Given the description of an element on the screen output the (x, y) to click on. 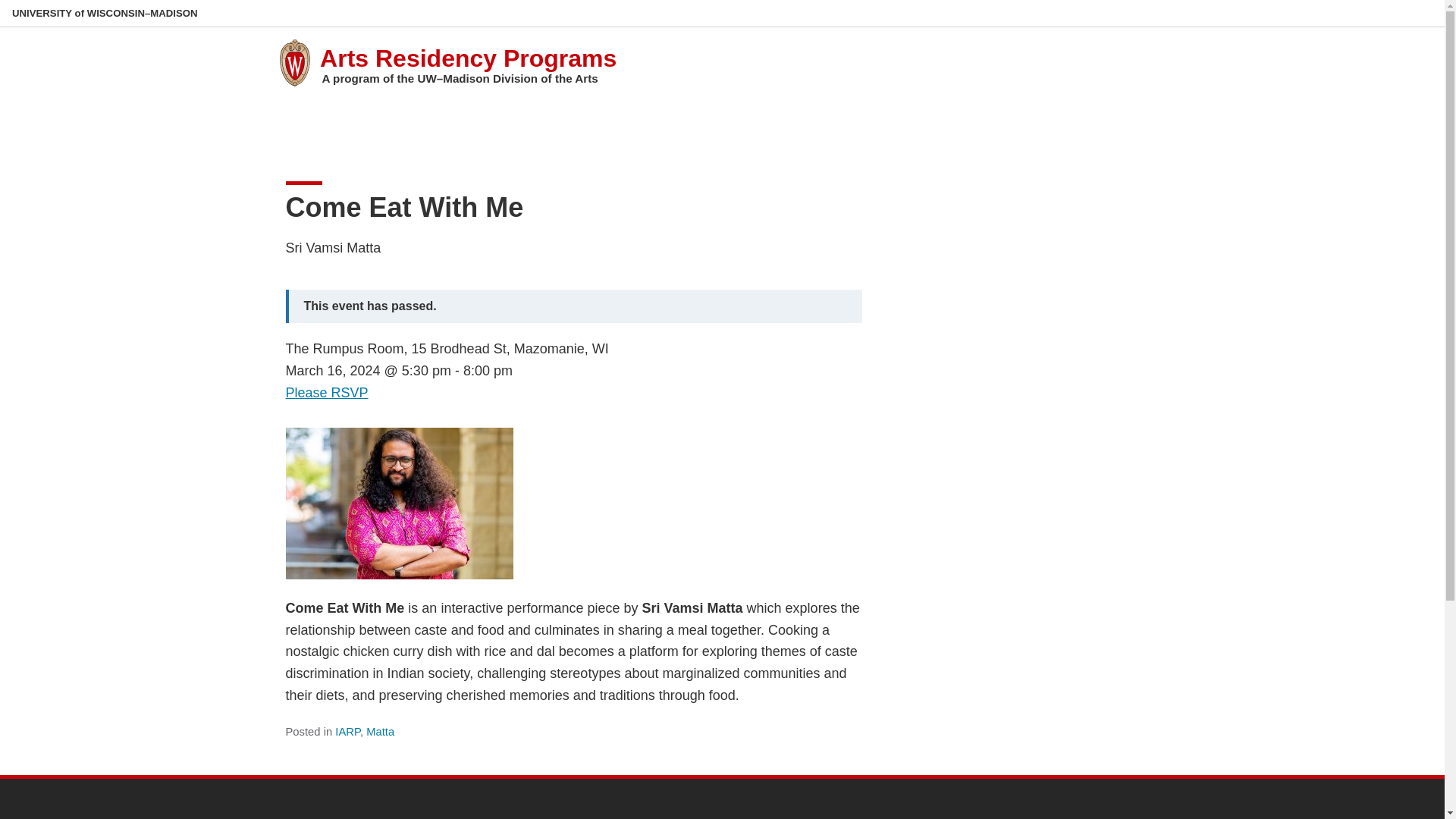
Matta (380, 731)
Skip to main content (3, 3)
IARP (346, 731)
Please RSVP (326, 392)
Arts Residency Programs (467, 58)
